Given the description of an element on the screen output the (x, y) to click on. 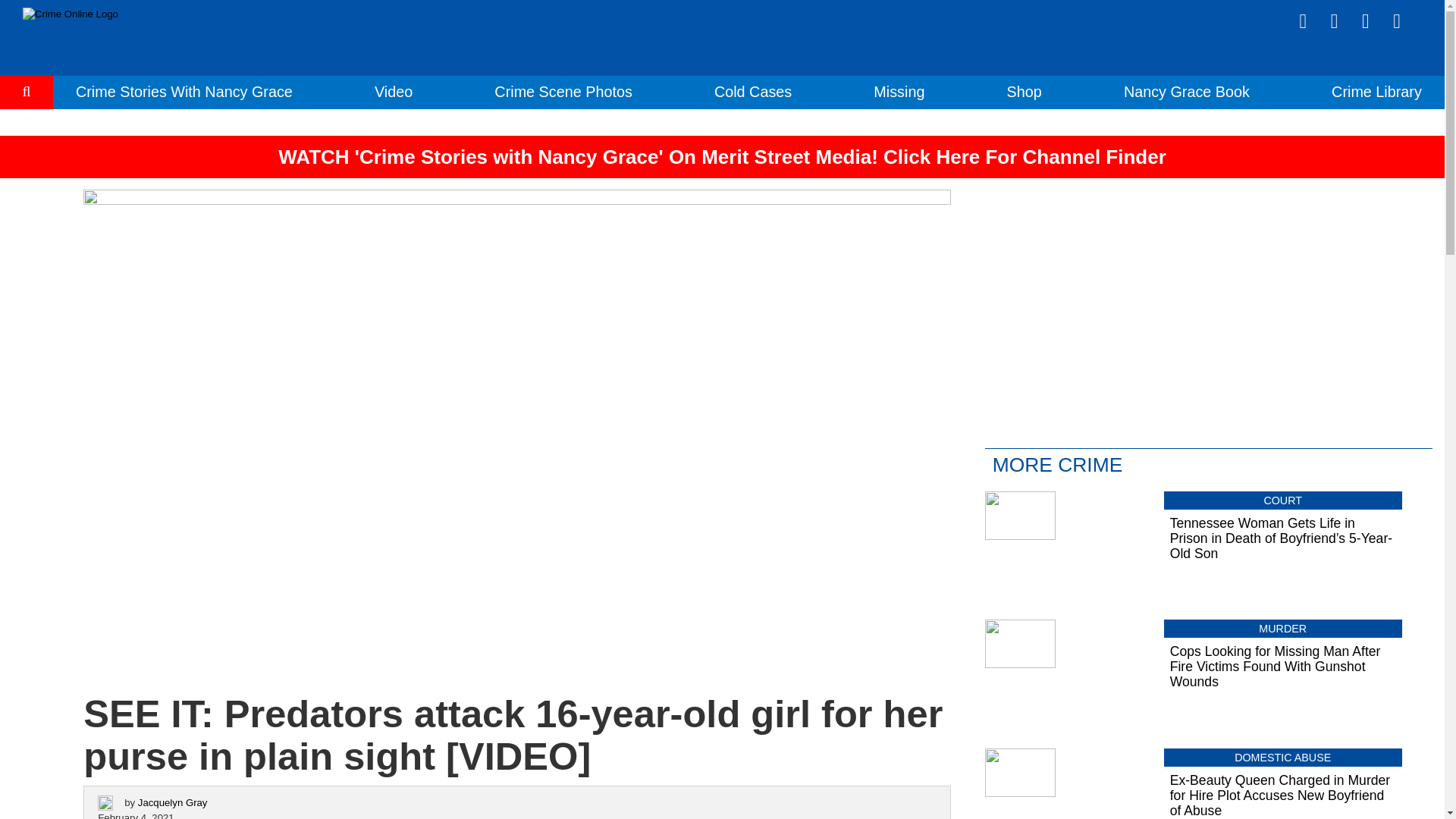
February 4, 2021 (135, 815)
Posts by Jacquelyn Gray (173, 801)
Crime Library (1377, 91)
Video (393, 91)
Jacquelyn Gray (173, 801)
Search (27, 138)
Cold Cases (753, 91)
Missing (898, 91)
Nancy Grace Book (1186, 91)
